Given the description of an element on the screen output the (x, y) to click on. 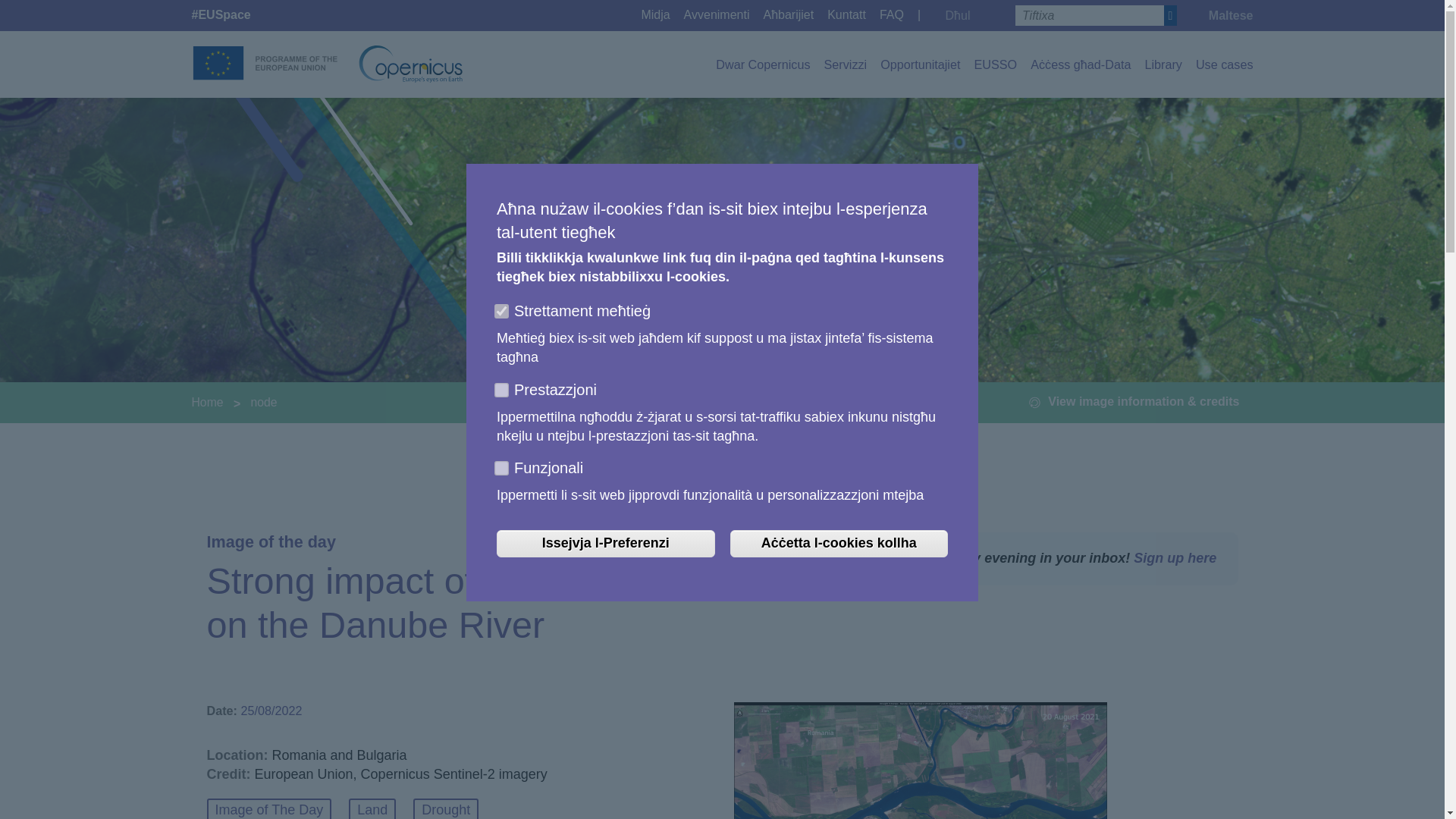
necessary (499, 308)
performance (499, 387)
functional (499, 465)
